Given the description of an element on the screen output the (x, y) to click on. 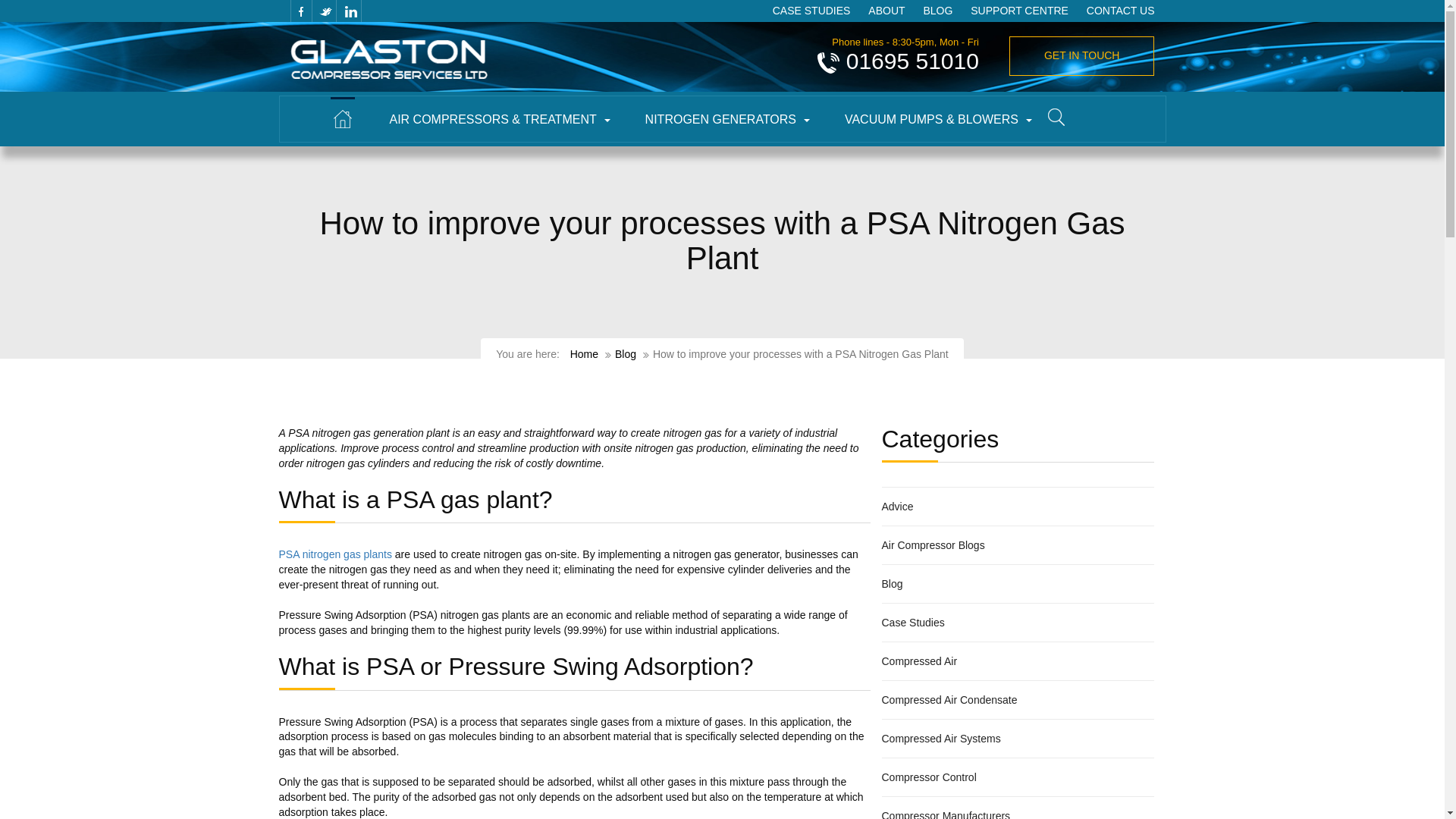
SUPPORT CENTRE (1019, 10)
CONTACT US (1120, 10)
GET IN TOUCH (1081, 56)
BLOG (937, 10)
01695 51010 (911, 60)
ABOUT (885, 10)
CASE STUDIES (811, 10)
